Given the description of an element on the screen output the (x, y) to click on. 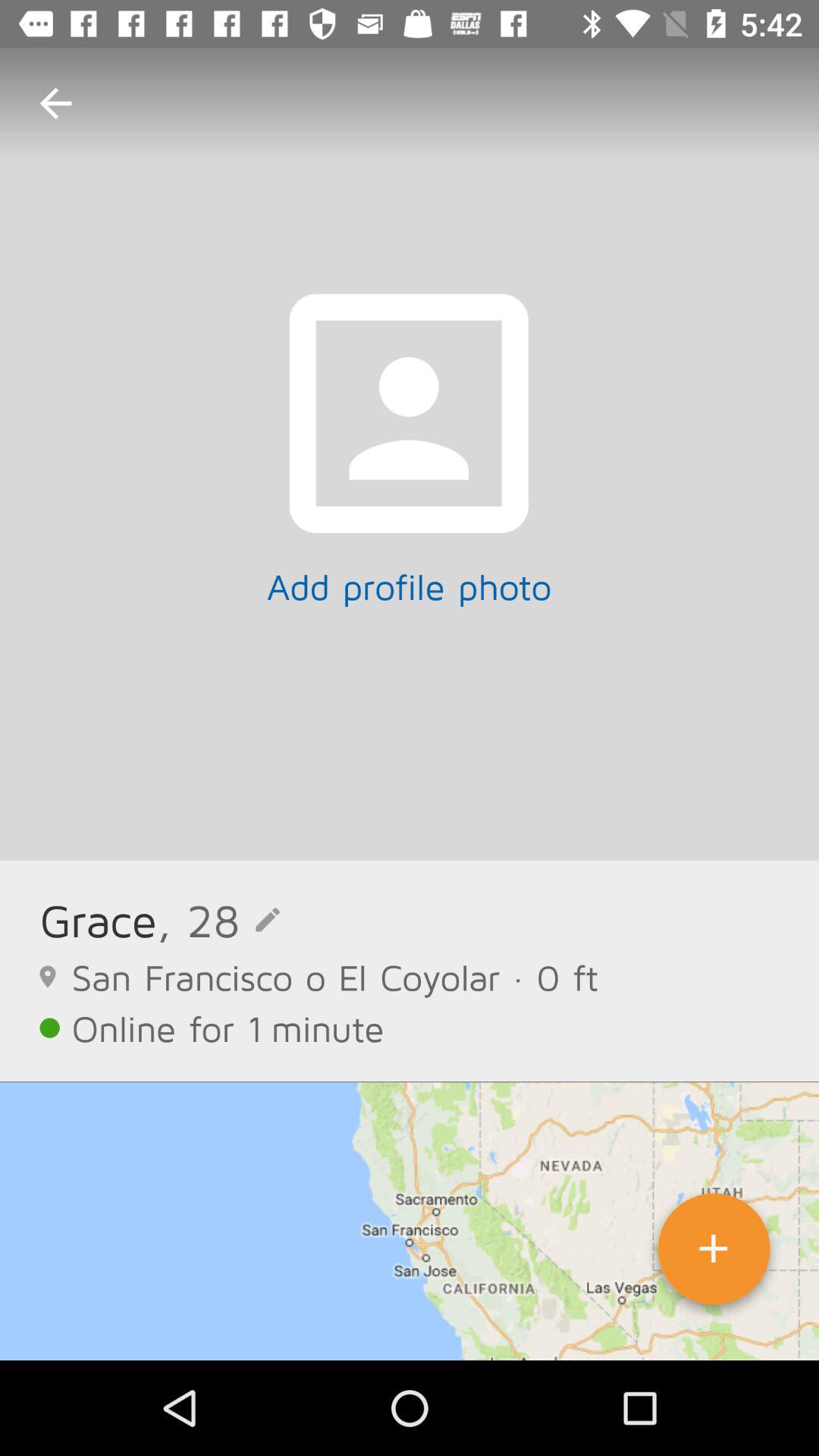
tap icon next to the grace item (217, 919)
